Given the description of an element on the screen output the (x, y) to click on. 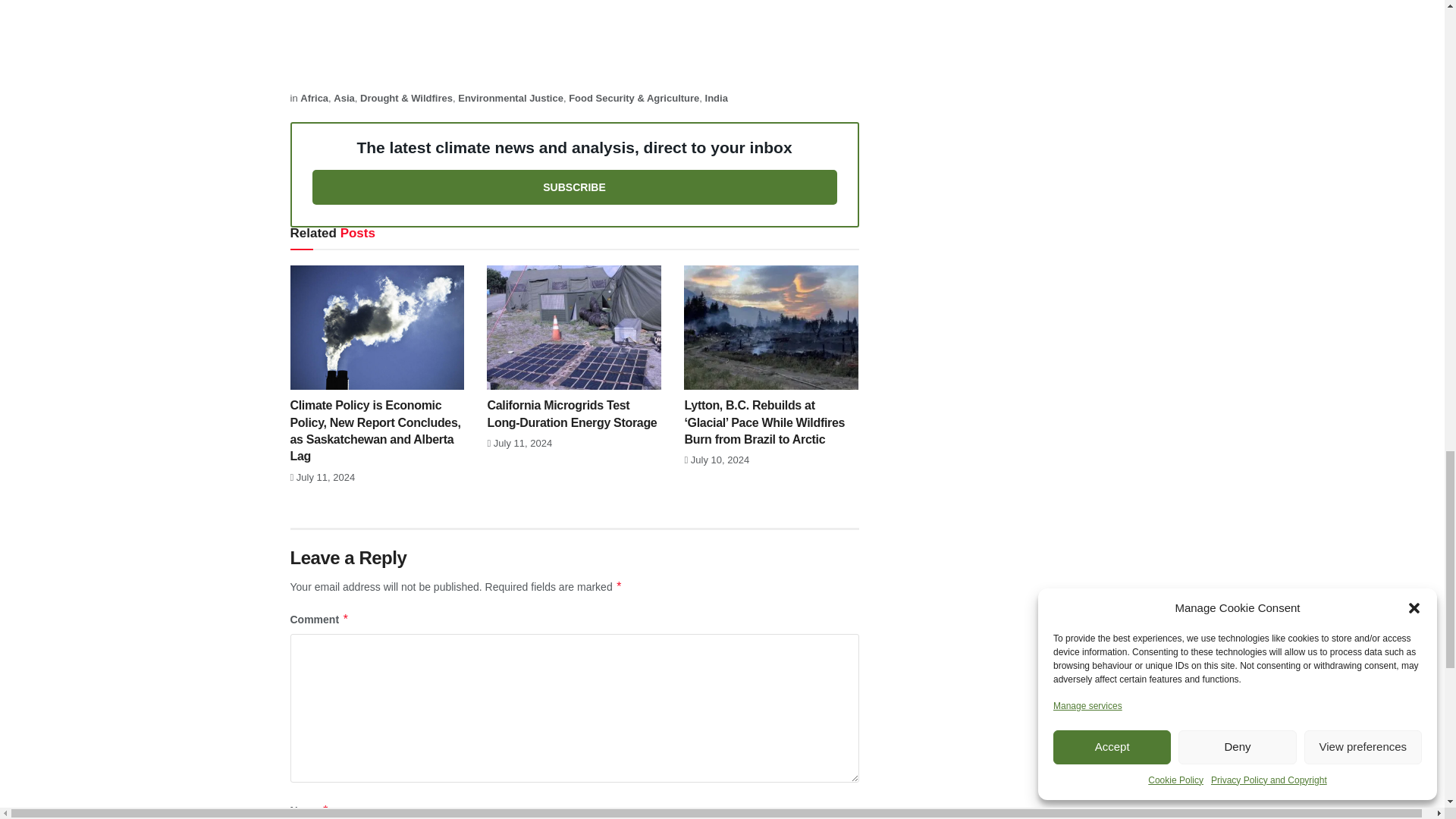
View Subscription Options (575, 186)
